Given the description of an element on the screen output the (x, y) to click on. 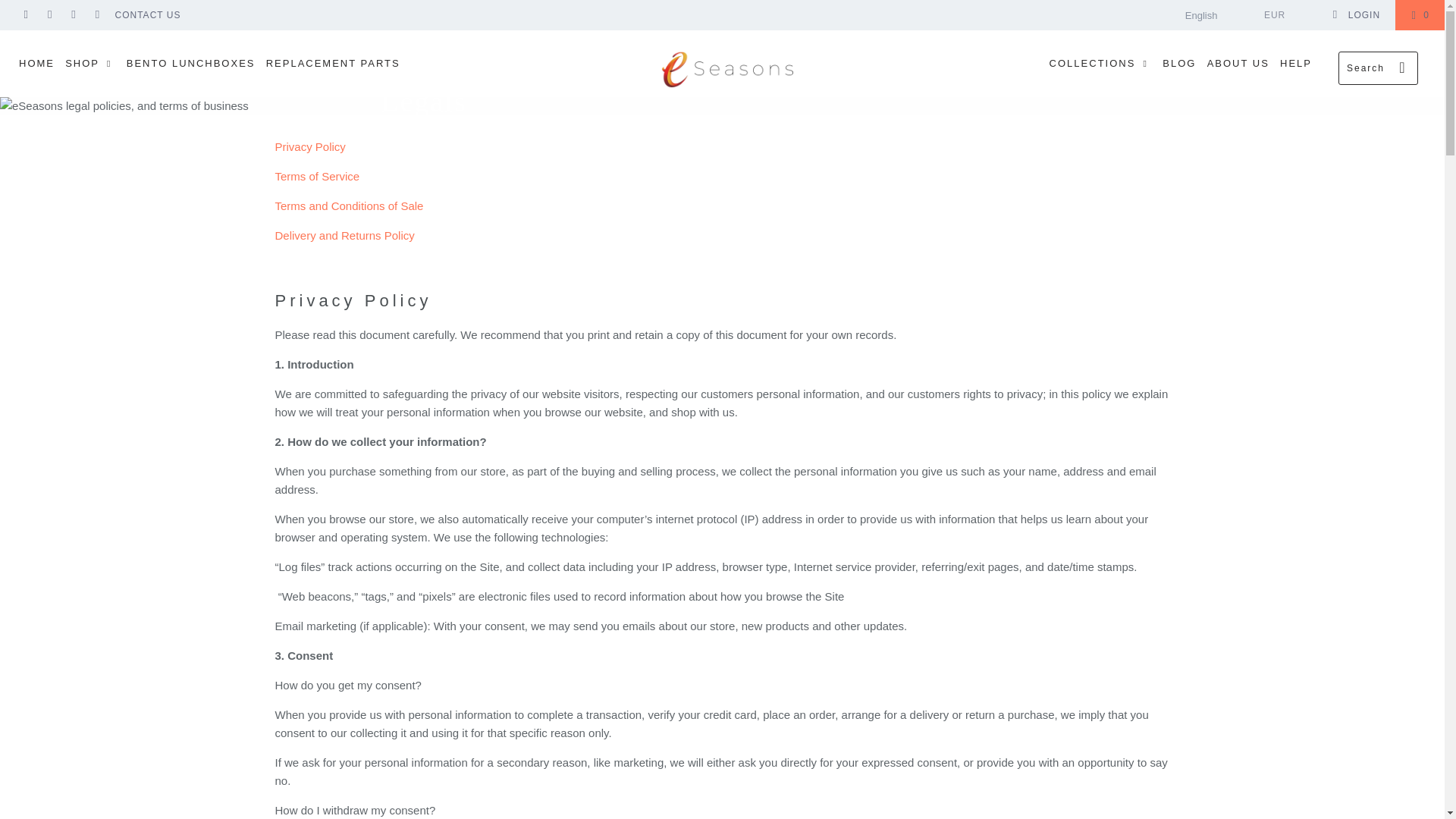
CONTACT US (147, 15)
HOME (36, 63)
SHOP (90, 63)
eSeasons GmbH (729, 69)
LOGIN (1355, 15)
eSeasons GmbH on YouTube (48, 14)
My Account  (1355, 15)
eSeasons GmbH on Instagram (96, 14)
eSeasons GmbH on Facebook (25, 14)
eSeasons GmbH on Pinterest (73, 14)
